Given the description of an element on the screen output the (x, y) to click on. 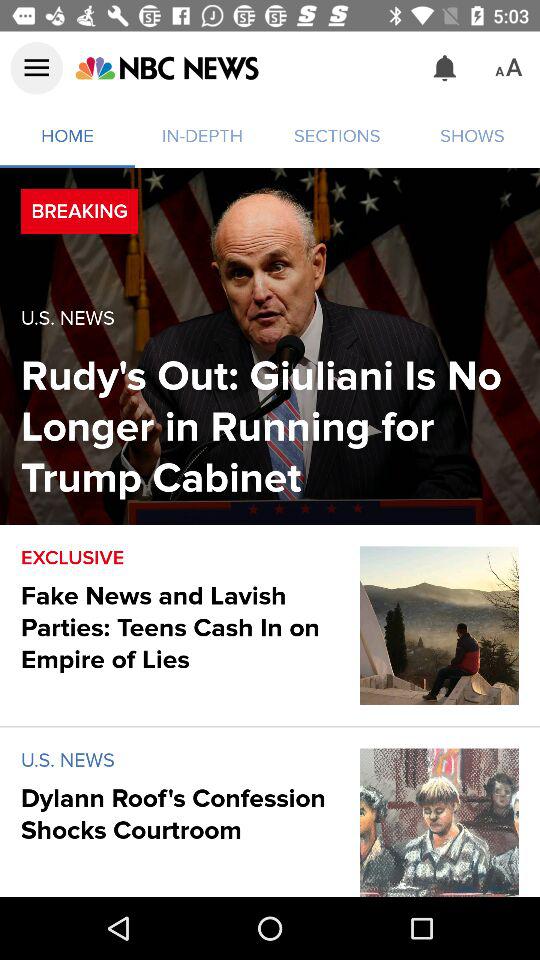
click the icon above home icon (166, 68)
